Given the description of an element on the screen output the (x, y) to click on. 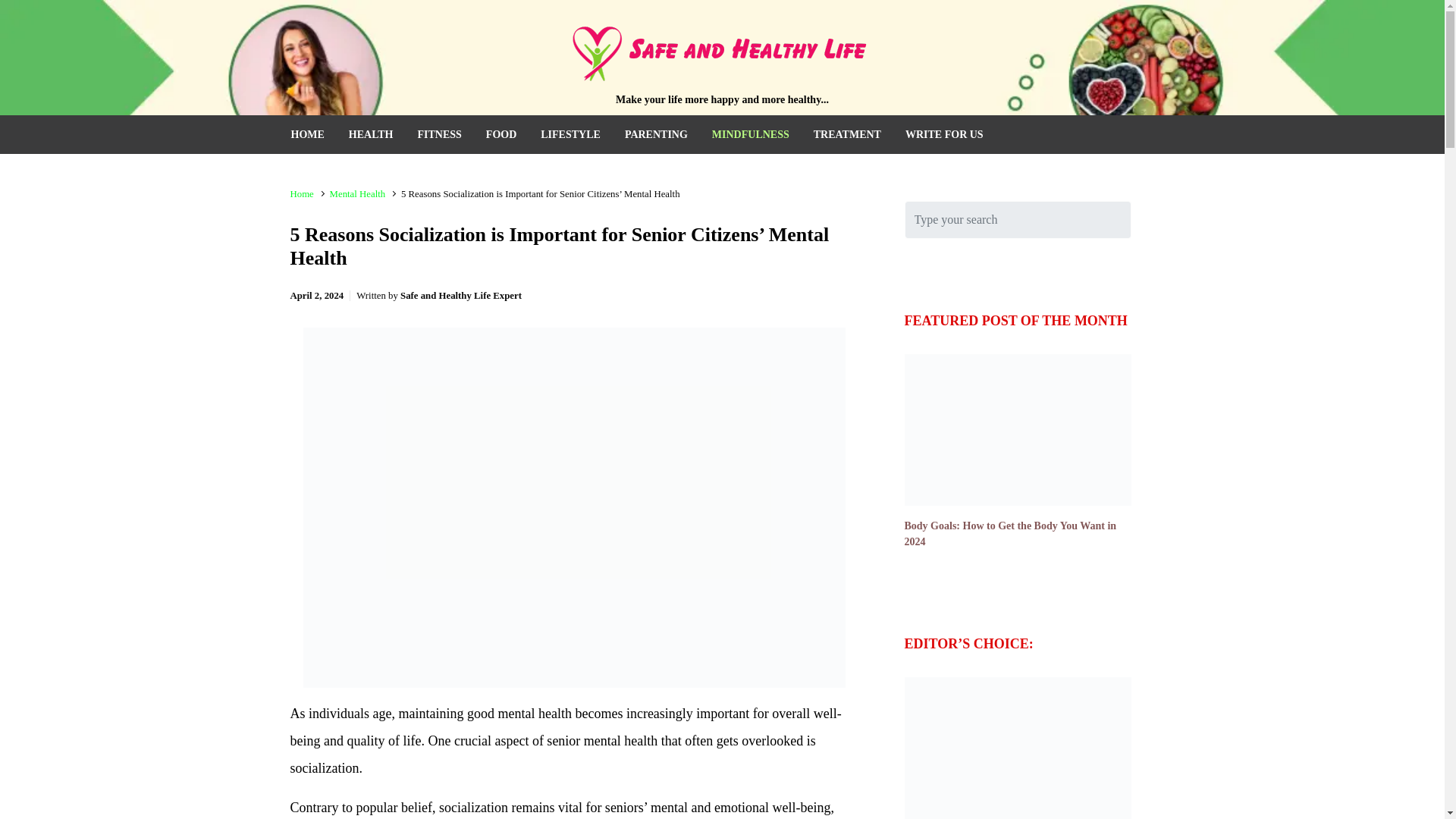
FOOD (501, 134)
PARENTING (656, 134)
Home (301, 194)
WRITE FOR US (944, 134)
LIFESTYLE (570, 134)
MINDFULNESS (750, 134)
Skip to main content (20, 11)
Safe and Healthy Life Expert (460, 295)
HOME (307, 134)
Mental Health (357, 194)
